Given the description of an element on the screen output the (x, y) to click on. 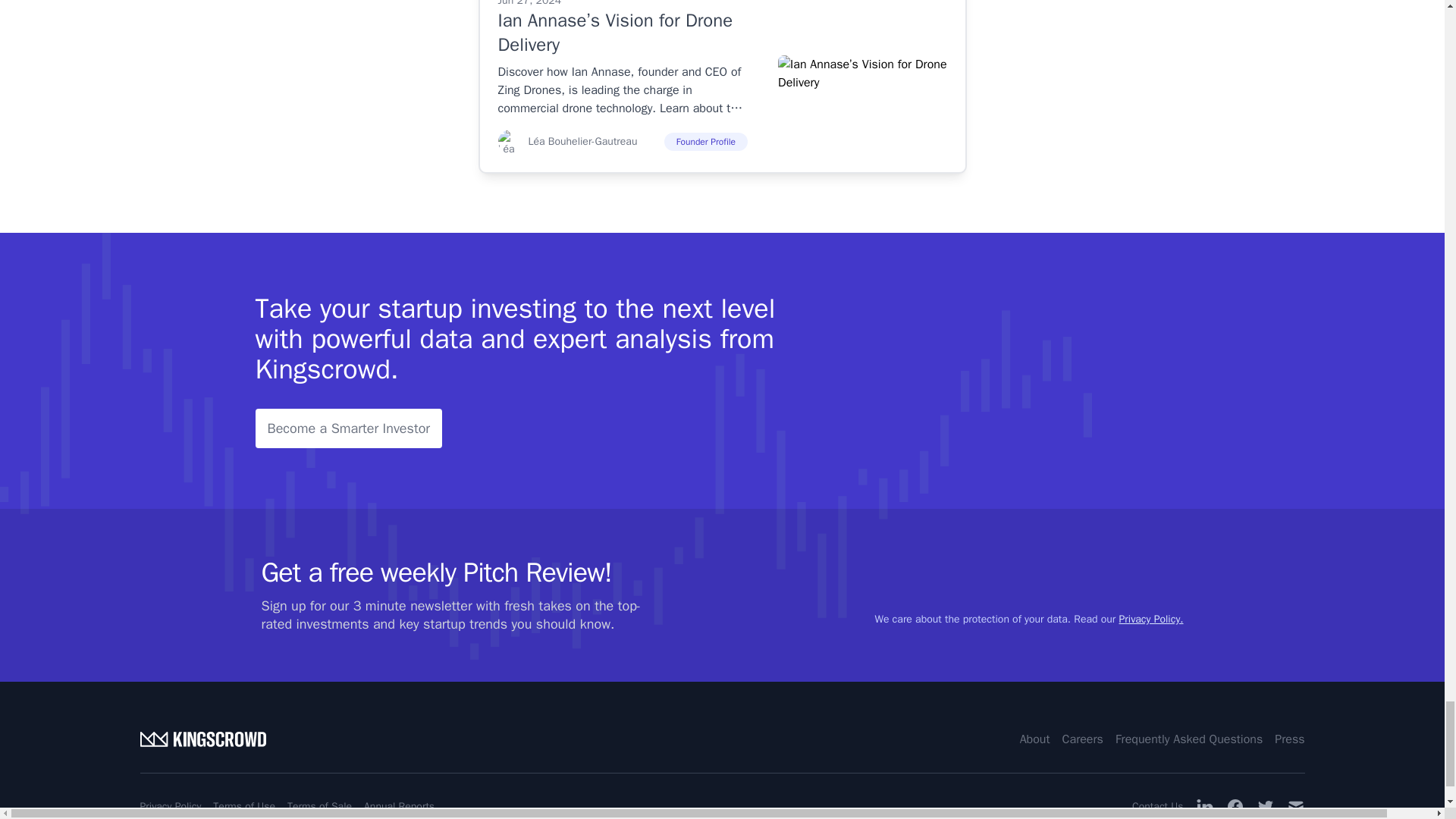
Become a Smarter Investor (348, 427)
